Given the description of an element on the screen output the (x, y) to click on. 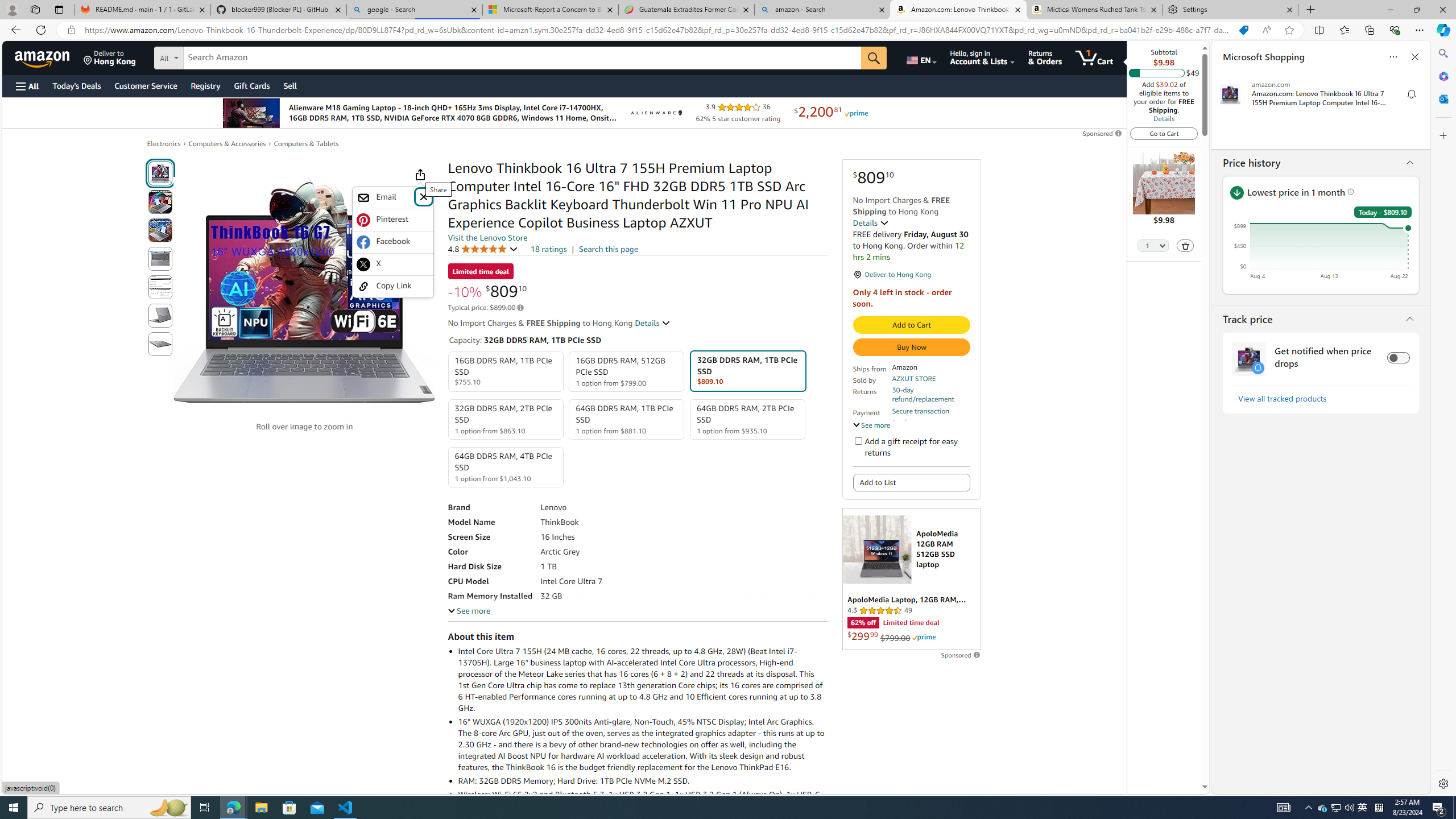
Gift Cards (251, 85)
Customer Service (145, 85)
Pinterest (392, 219)
Today's Deals (76, 85)
Search this page (608, 248)
Email (392, 197)
18 ratings (547, 248)
32GB DDR5 RAM, 2TB PCIe SSD 1 option from $863.10 (505, 418)
Quantity Selector (1153, 246)
Go (873, 57)
Secure transaction (920, 411)
